Given the description of an element on the screen output the (x, y) to click on. 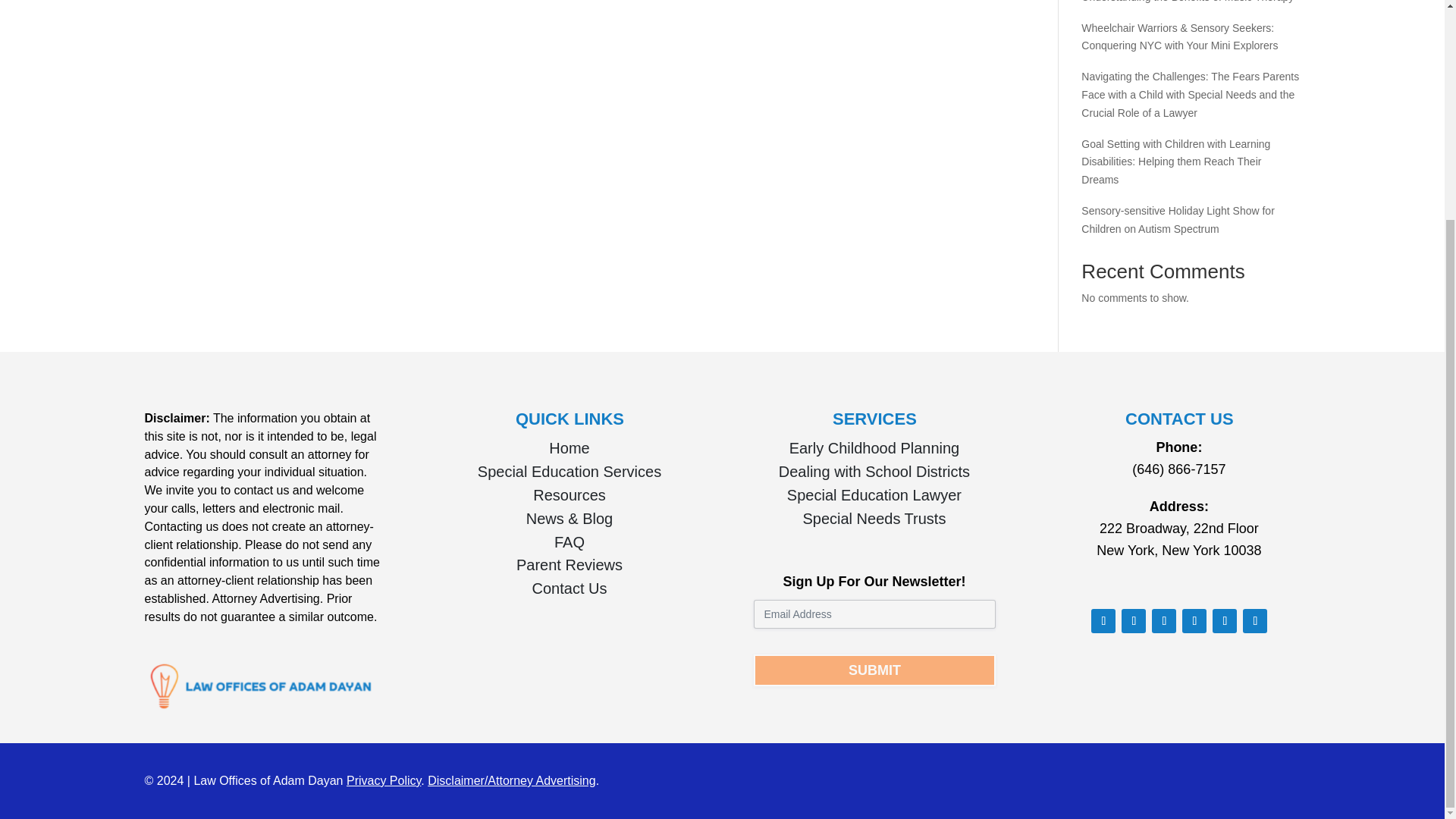
Follow on Facebook (1102, 621)
Follow on LinkedIn (1194, 621)
Follow on Spotify (1254, 621)
Follow on Youtube (1133, 621)
logo (262, 685)
Follow on Instagram (1224, 621)
Submit (874, 670)
Follow on X (1163, 621)
